Given the description of an element on the screen output the (x, y) to click on. 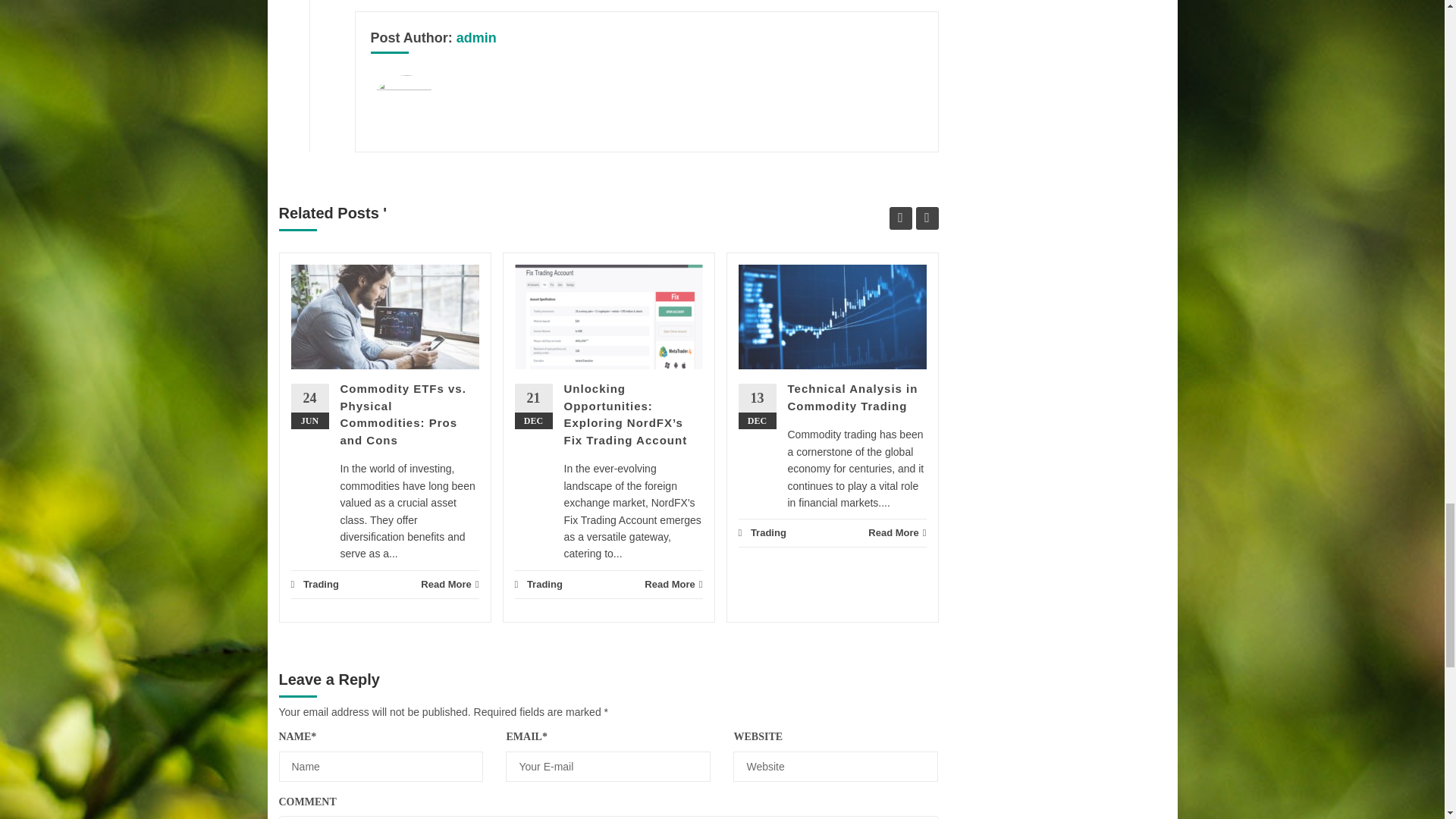
admin (476, 37)
